Given the description of an element on the screen output the (x, y) to click on. 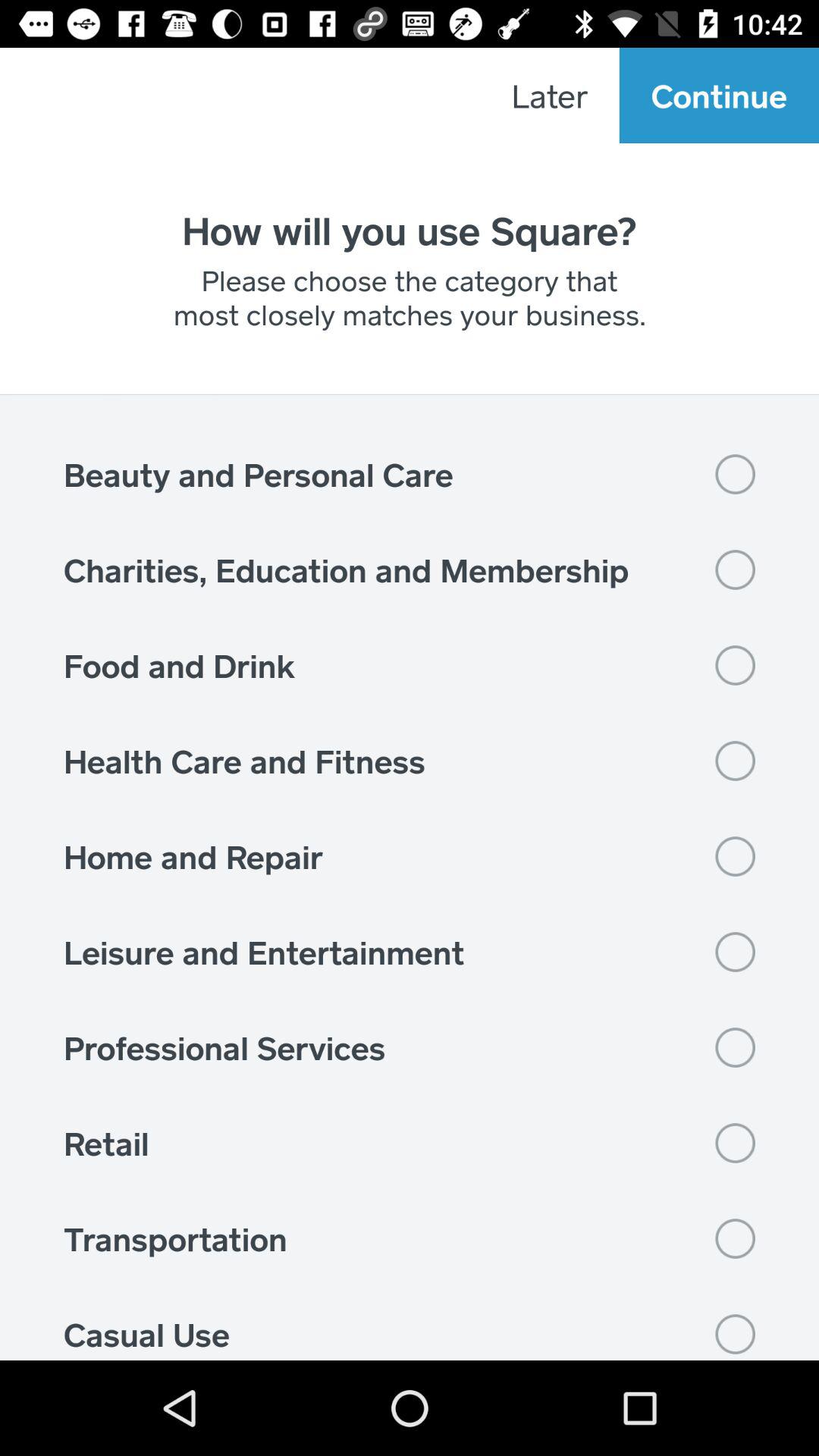
launch icon below charities education and icon (409, 665)
